Given the description of an element on the screen output the (x, y) to click on. 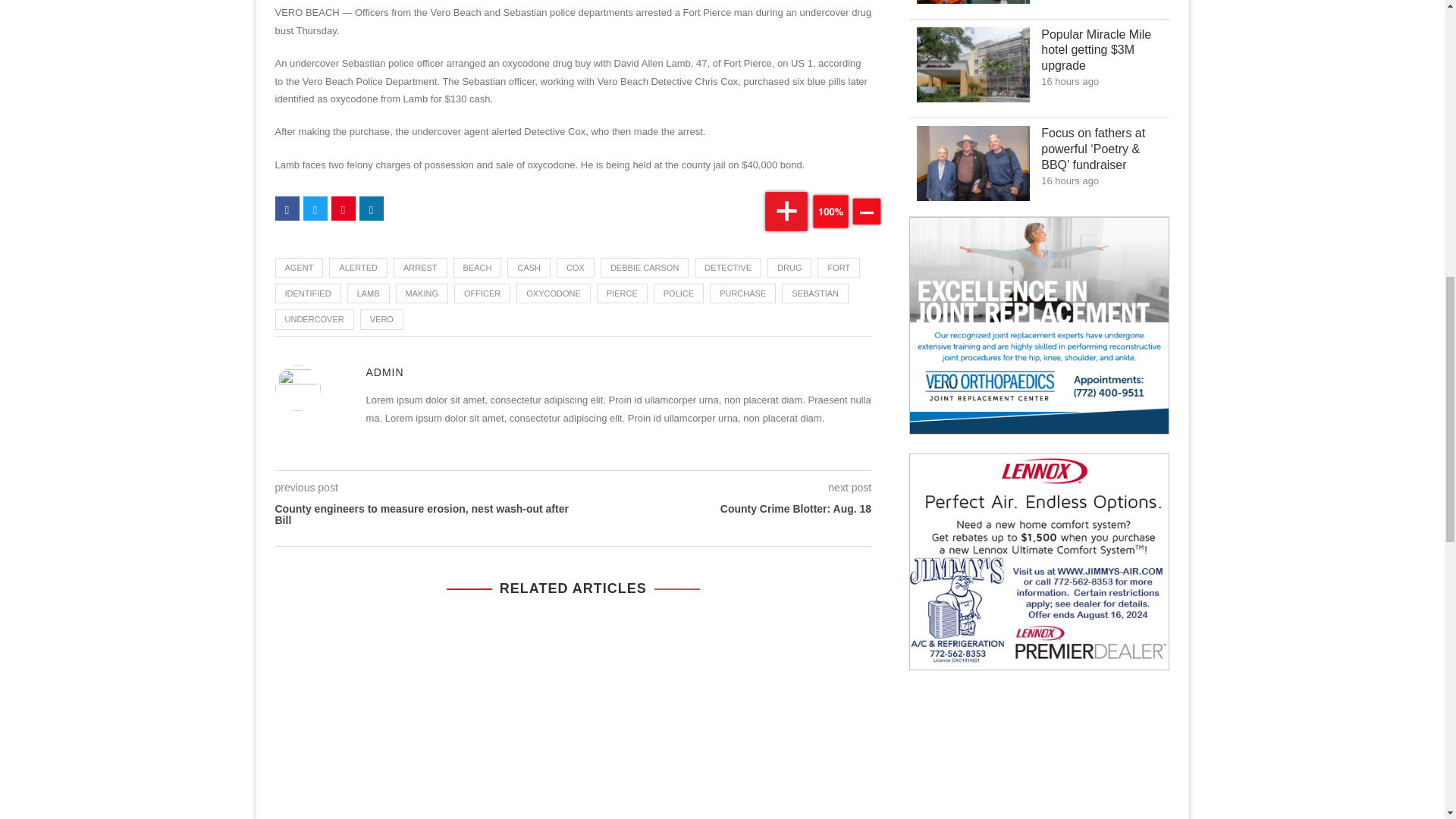
Posts by Admin (384, 372)
